Given the description of an element on the screen output the (x, y) to click on. 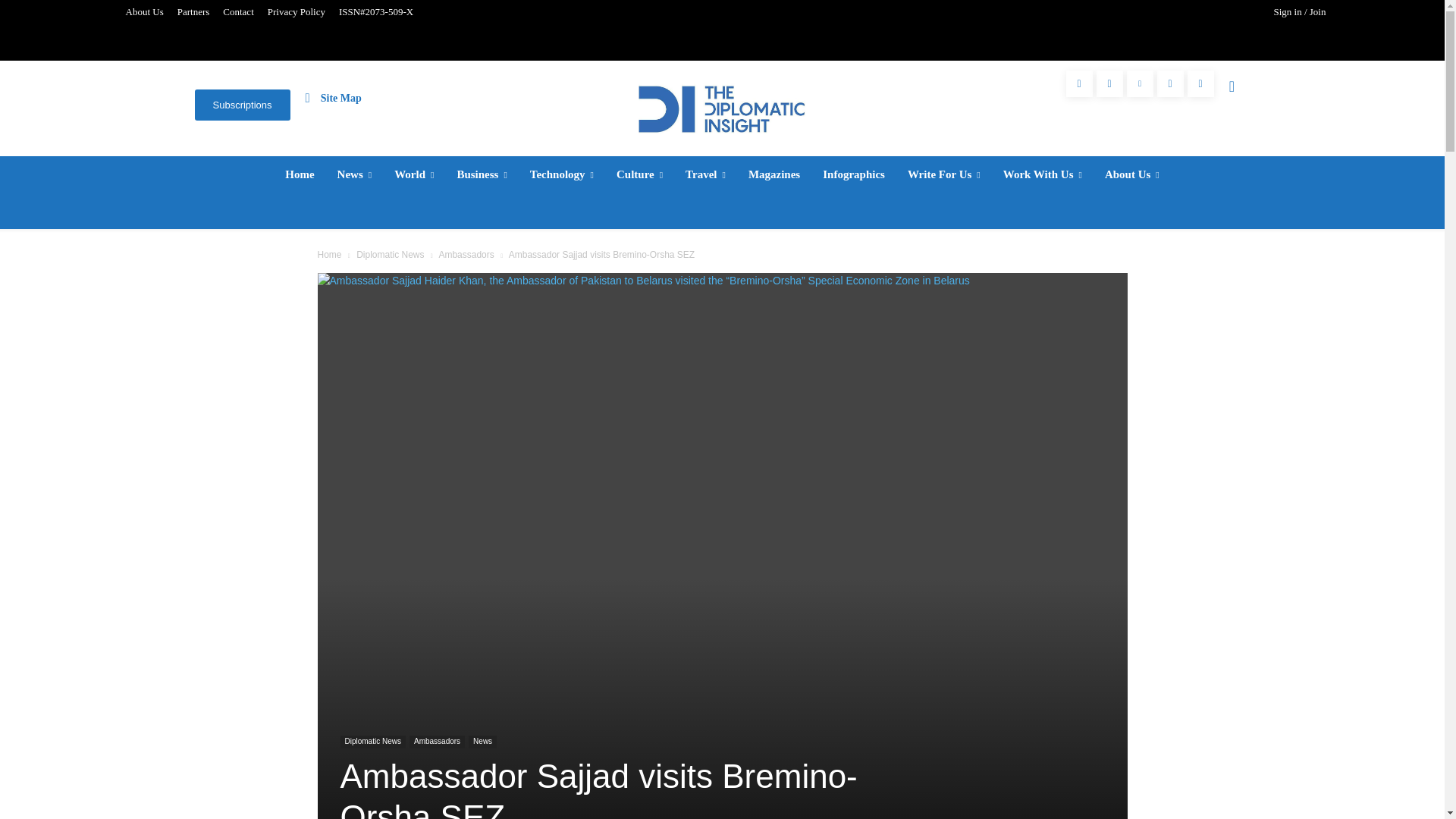
View all posts in Ambassadors (465, 254)
Twitter (1170, 82)
Facebook (1079, 82)
Linkedin (1139, 82)
View all posts in Diplomatic News (389, 254)
Site Map (333, 97)
Youtube (1201, 82)
Subscriptions (241, 104)
Instagram (1109, 82)
